Given the description of an element on the screen output the (x, y) to click on. 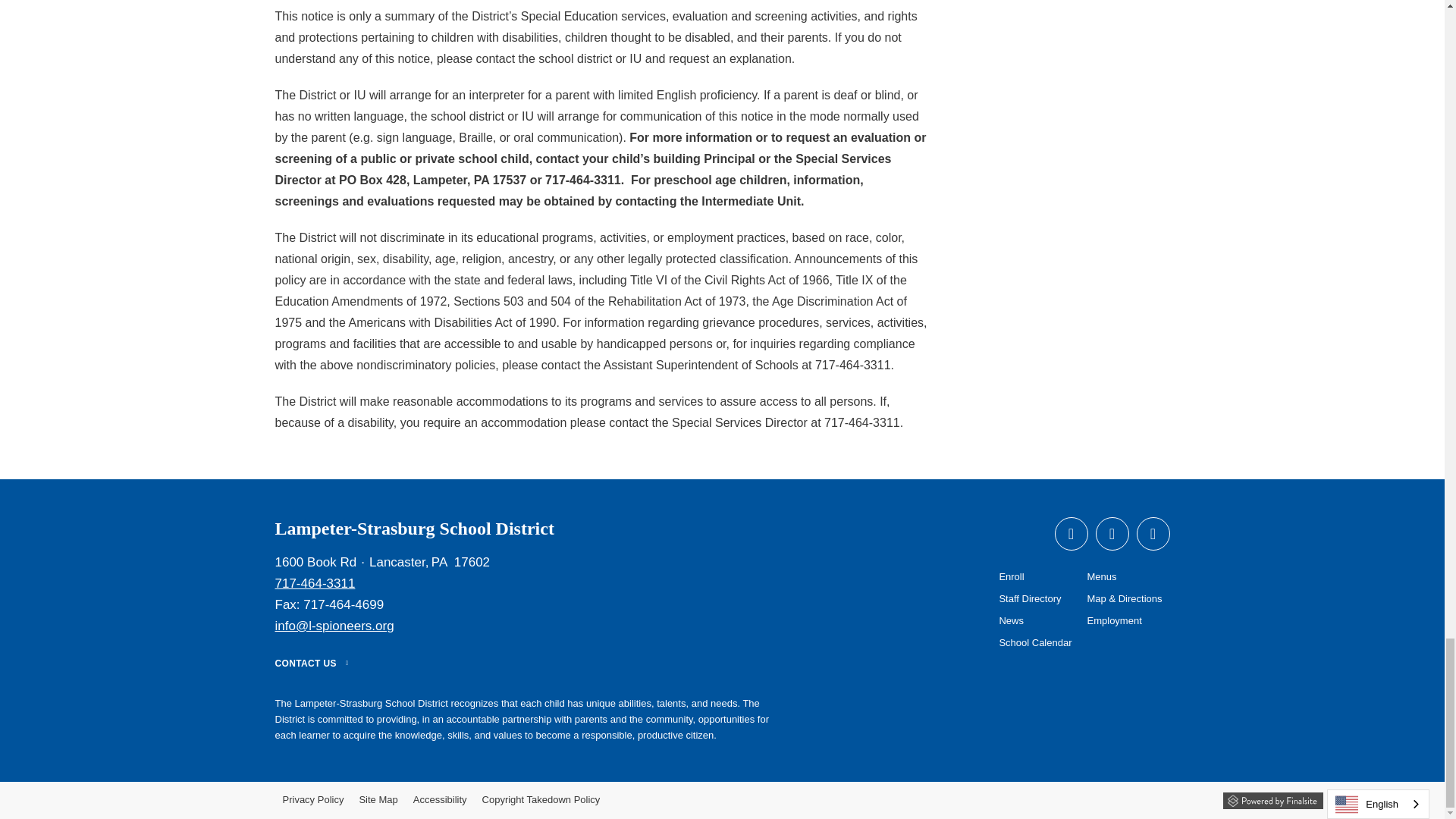
Powered by Finalsite opens in a new window (1273, 798)
Email (334, 626)
